Given the description of an element on the screen output the (x, y) to click on. 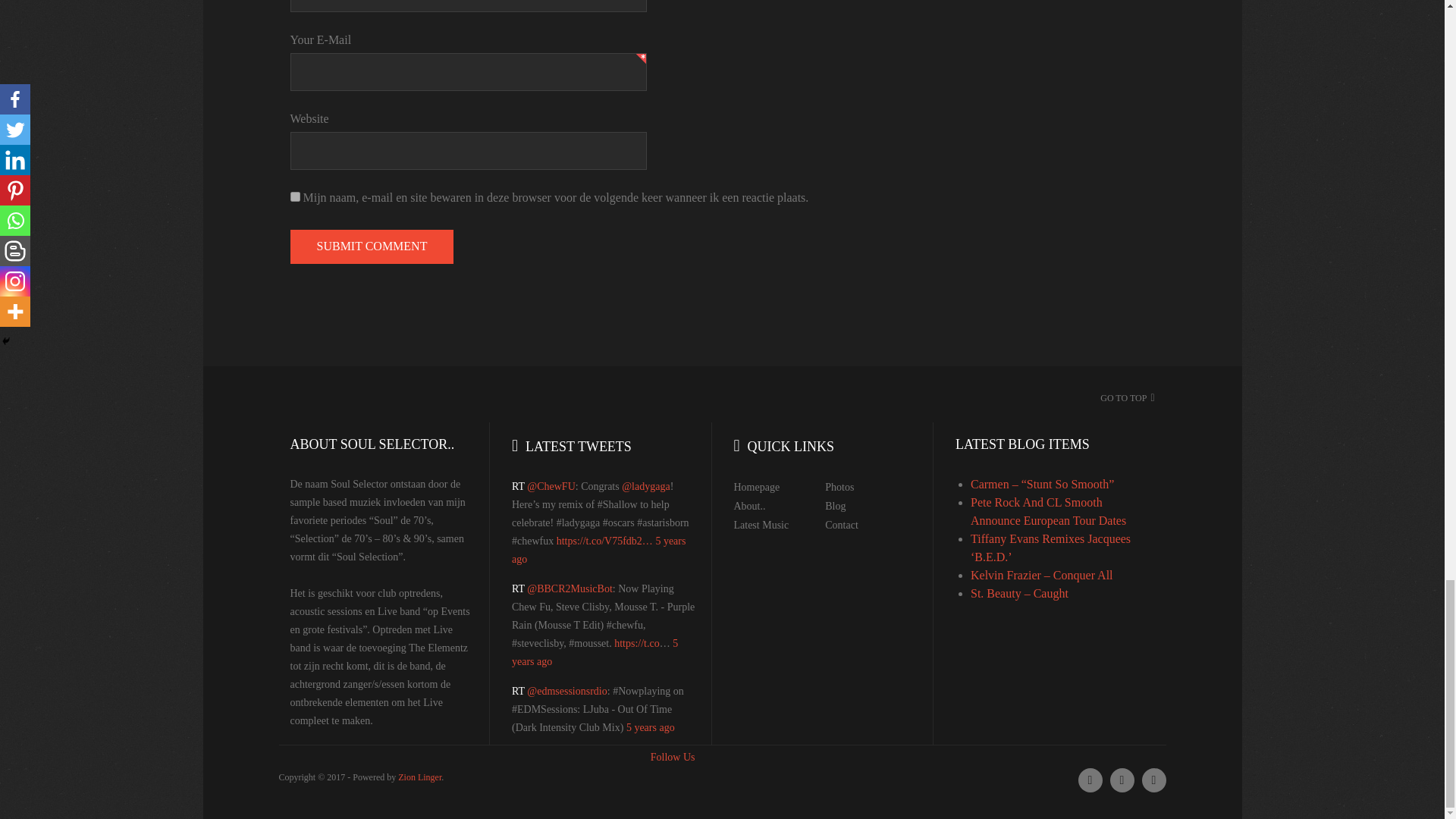
Follow Us (672, 757)
5 years ago (650, 727)
Submit Comment (370, 246)
5 years ago (598, 550)
GO TO TOP (1123, 398)
yes (294, 196)
Twitter (1090, 780)
Submit Comment (370, 246)
Homepage (756, 487)
5 years ago (595, 652)
